Given the description of an element on the screen output the (x, y) to click on. 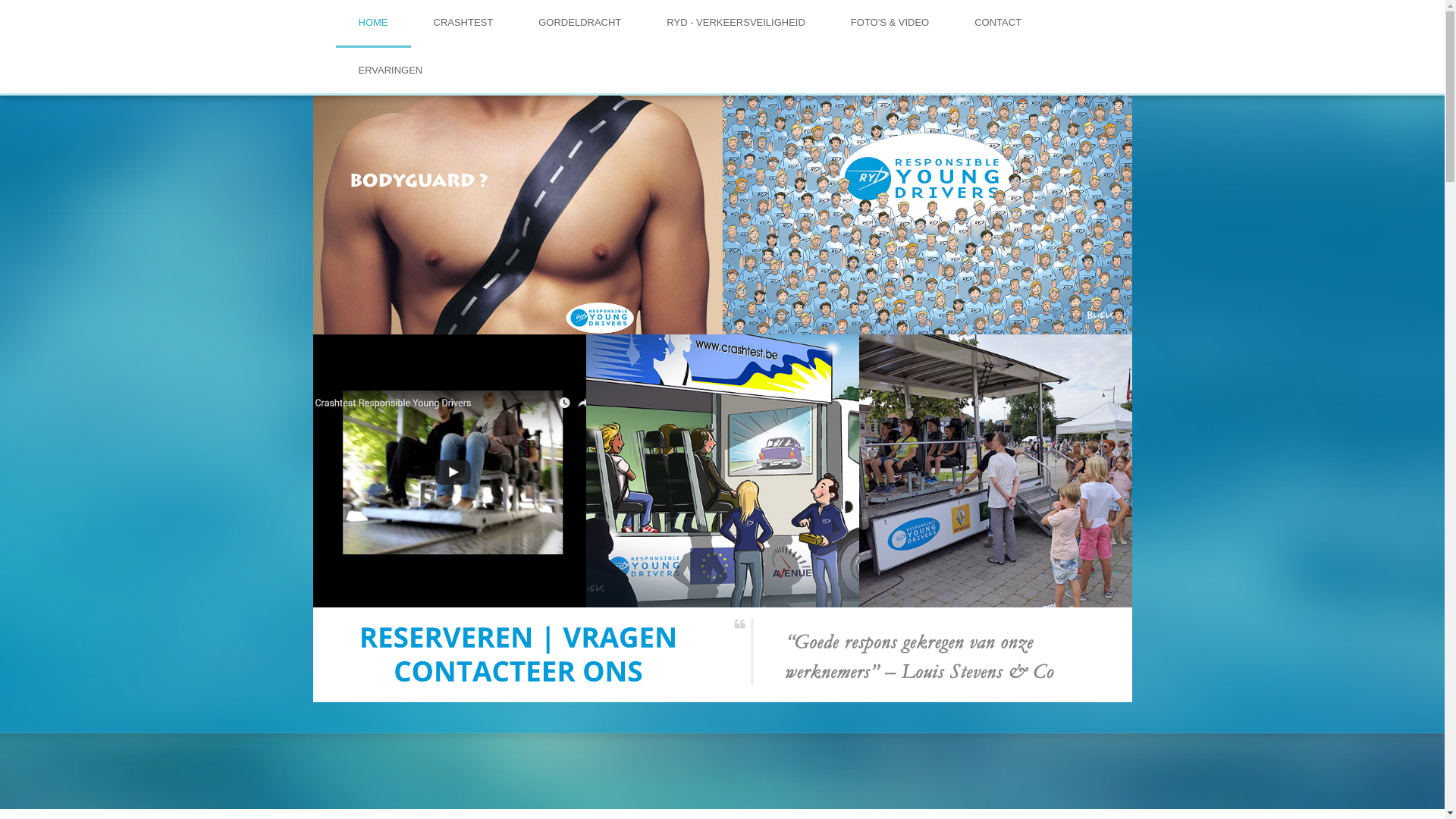
RYD - VERKEERSVEILIGHEID Element type: text (735, 23)
ERVARINGEN Element type: text (390, 71)
HOME Element type: text (372, 23)
GORDELDRACHT Element type: text (579, 23)
CONTACT Element type: text (997, 23)
FOTO'S & VIDEO Element type: text (889, 23)
Crashtest video Element type: hover (448, 470)
CRASHTEST Element type: text (463, 23)
